Given the description of an element on the screen output the (x, y) to click on. 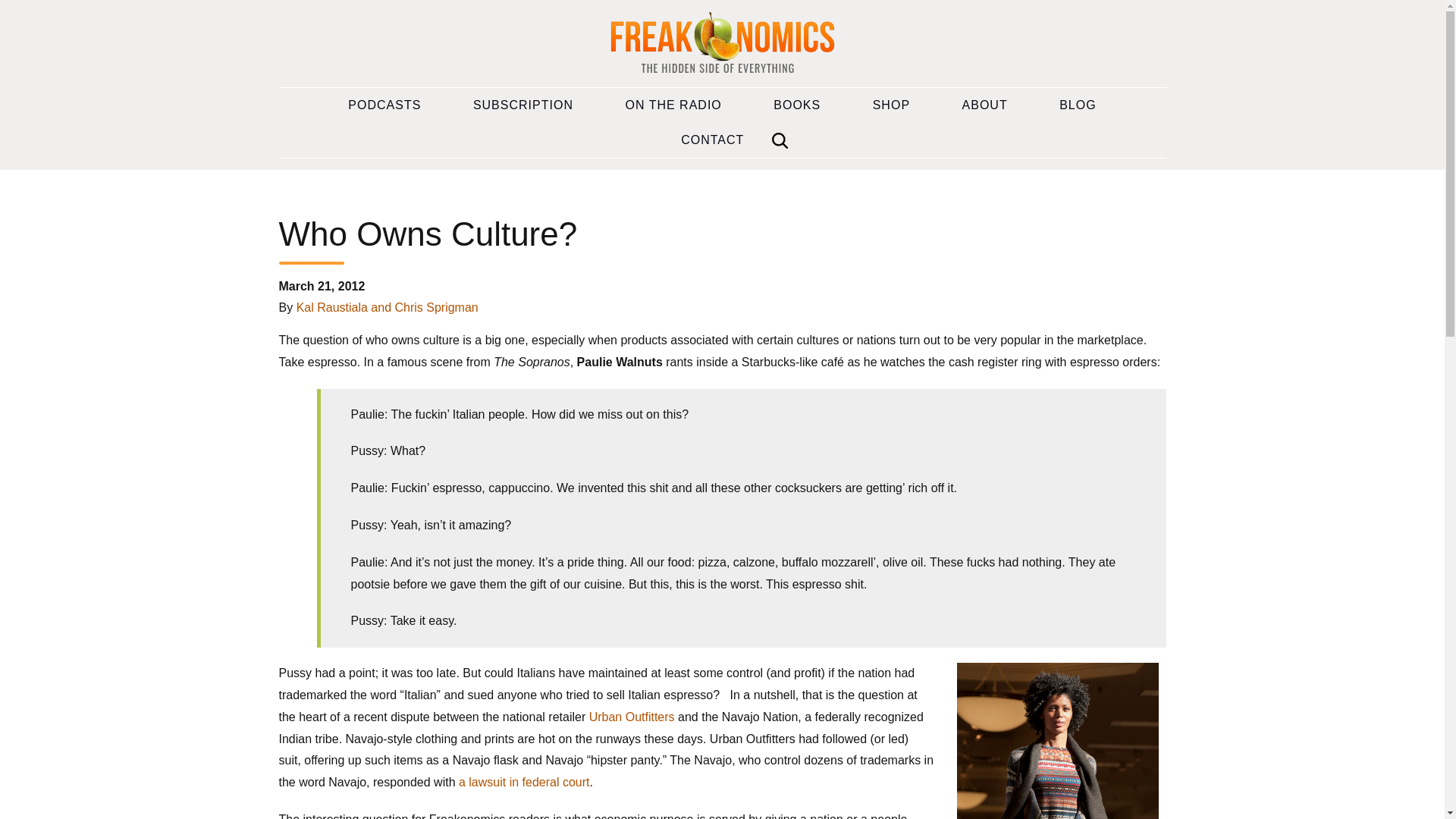
PODCASTS (384, 104)
BLOG (1078, 104)
Kal Raustiala and Chris Sprigman (388, 307)
ON THE RADIO (672, 104)
Return to homepage (722, 43)
SUBSCRIPTION (522, 104)
navajoprints (1057, 740)
Urban Outfitters (632, 716)
SHOP (891, 104)
a lawsuit in federal court (523, 781)
